Given the description of an element on the screen output the (x, y) to click on. 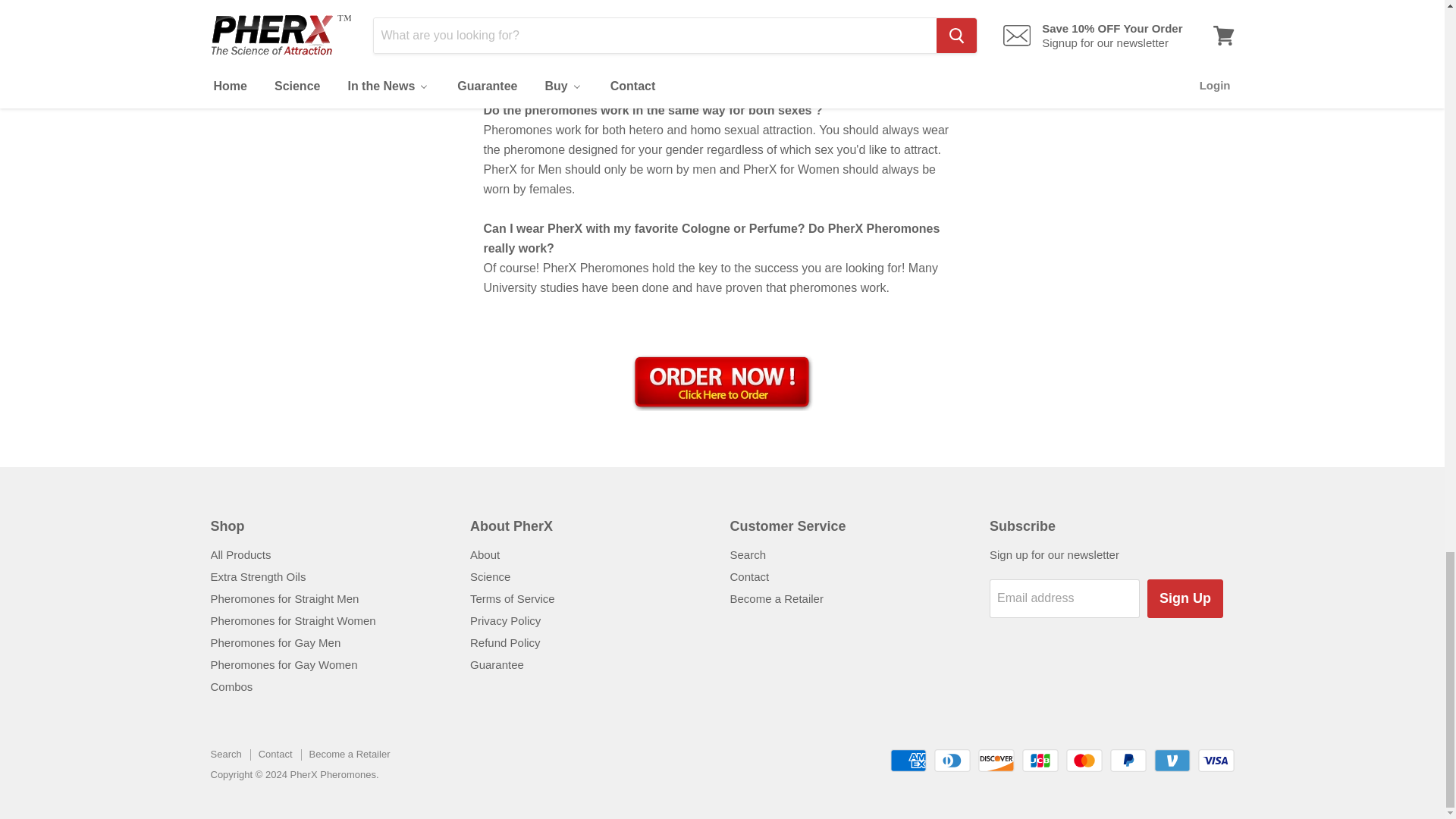
Mastercard (1083, 760)
PayPal (1128, 760)
American Express (907, 760)
Venmo (1172, 760)
Visa (1216, 760)
Discover (996, 760)
Diners Club (952, 760)
JCB (1040, 760)
